Given the description of an element on the screen output the (x, y) to click on. 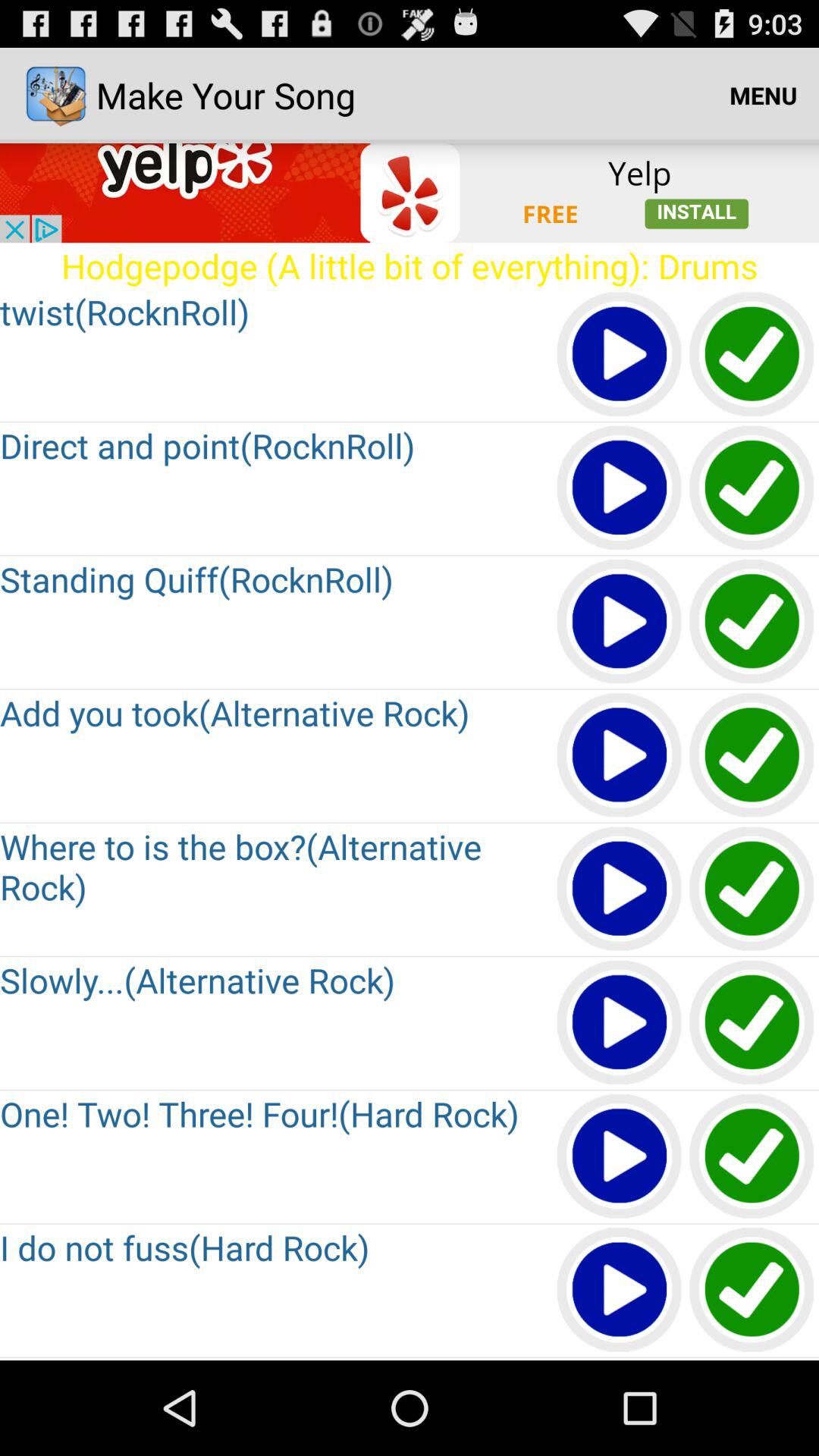
play sound (619, 1290)
